Given the description of an element on the screen output the (x, y) to click on. 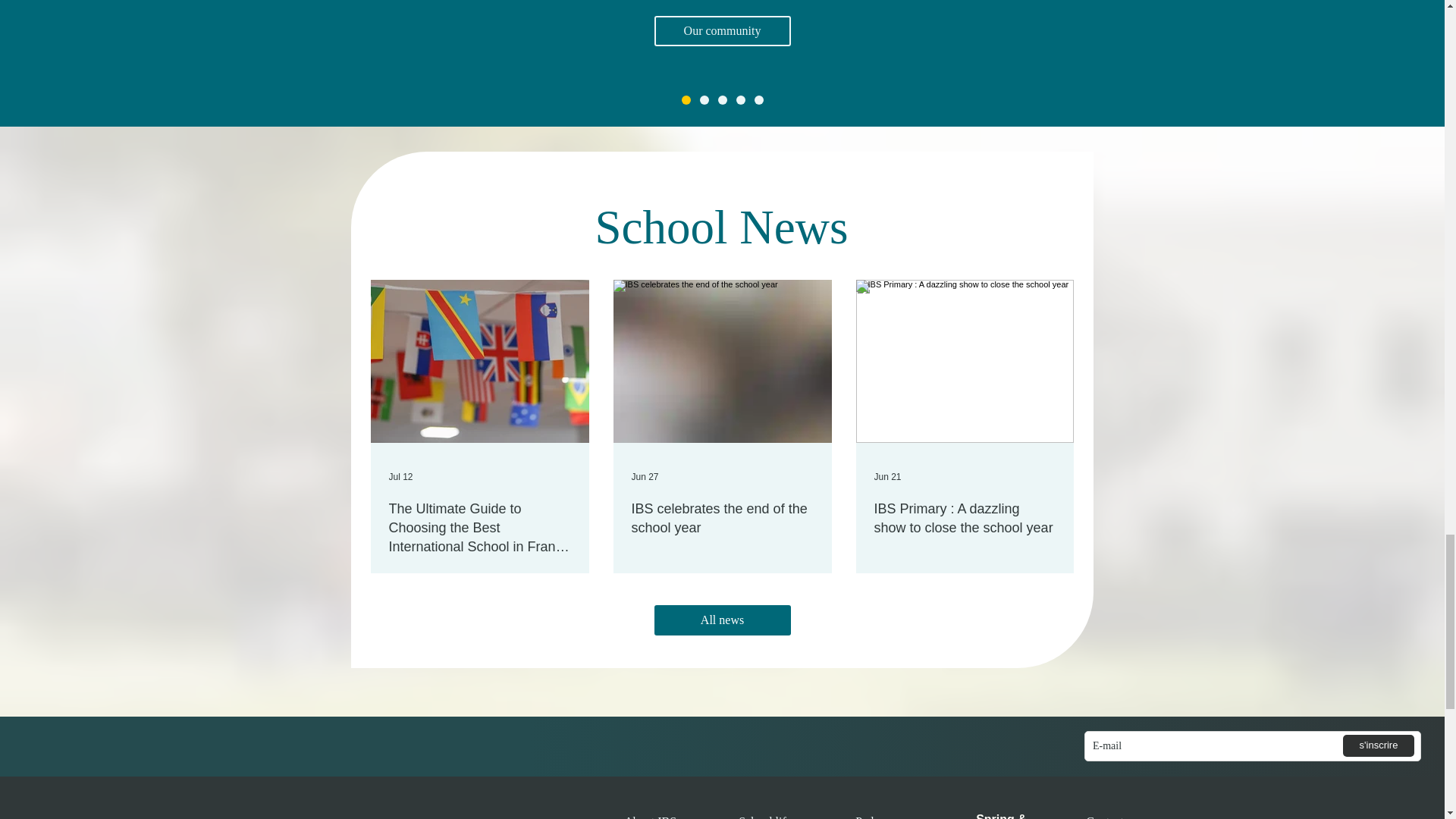
Jun 27 (644, 476)
Jun 21 (887, 476)
Jul 12 (400, 476)
